Given the description of an element on the screen output the (x, y) to click on. 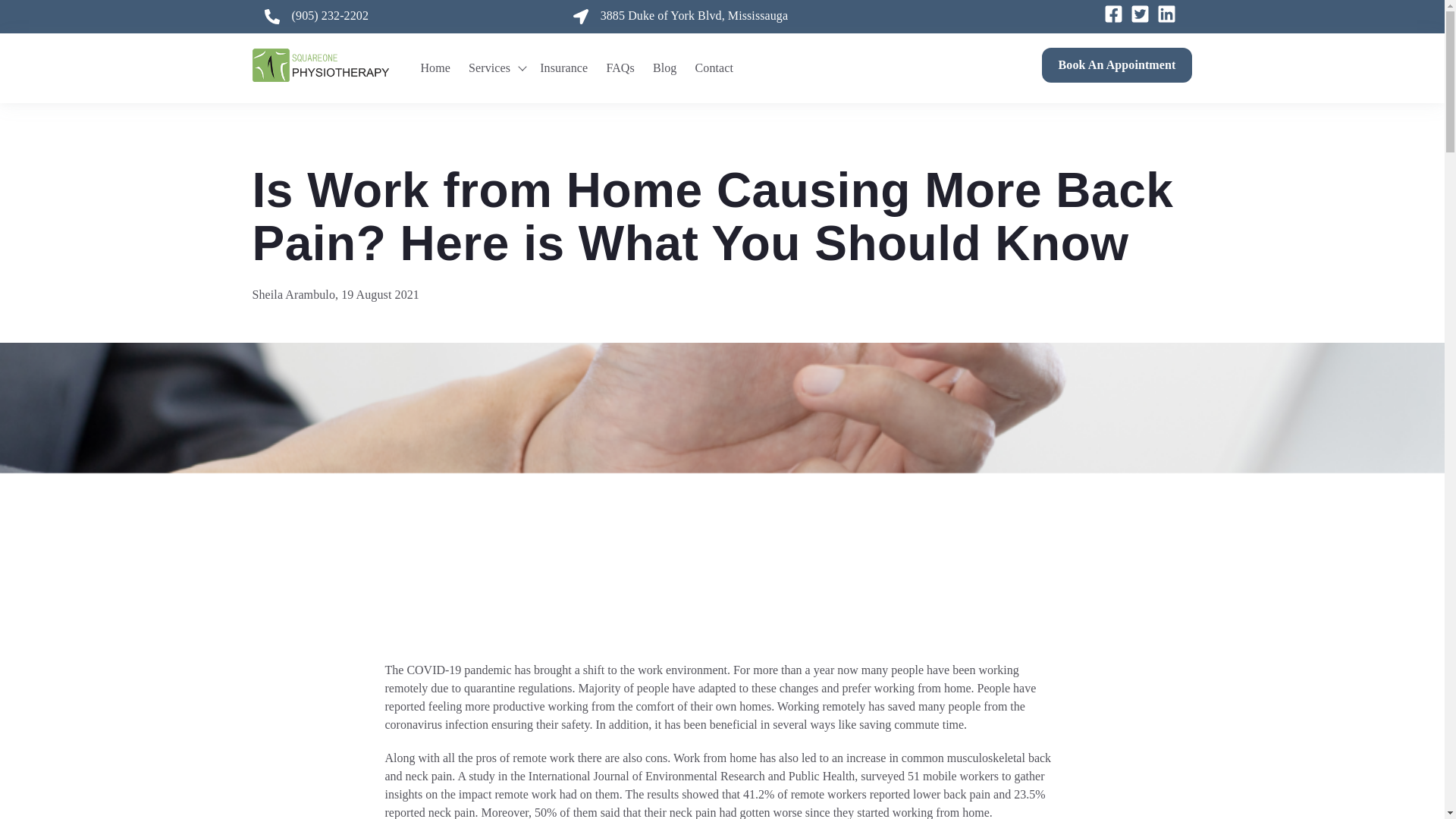
Book An Appointment (1117, 64)
Sheila Arambulo, (295, 294)
FAQs (619, 67)
Blog (664, 67)
Services (489, 67)
Insurance (564, 67)
Home (434, 67)
Square One Physiotherapy Mississauga (319, 64)
Contact (714, 67)
study (481, 775)
